Given the description of an element on the screen output the (x, y) to click on. 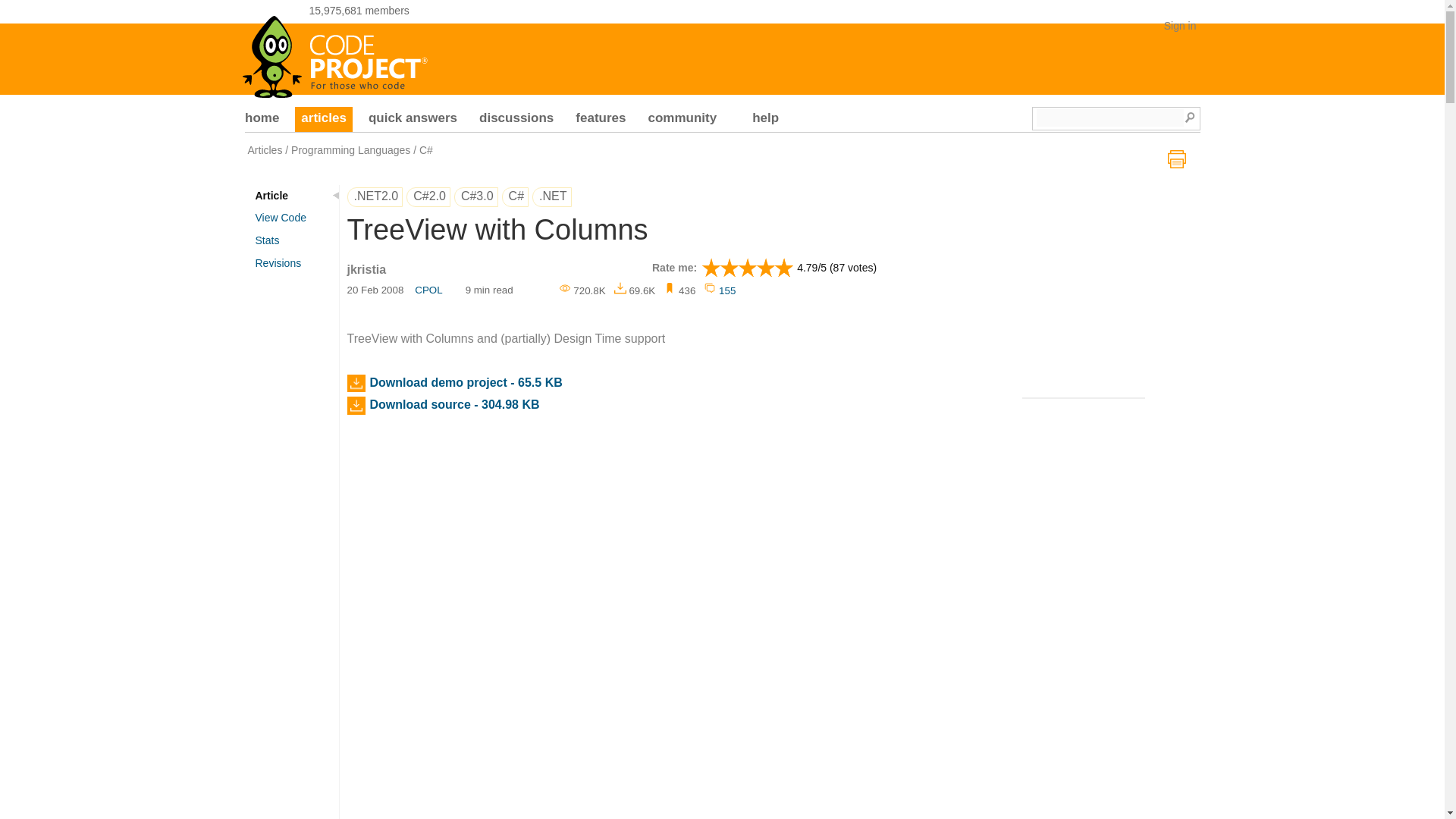
home (261, 119)
Views (582, 290)
articles (323, 119)
Sign in (1179, 25)
Date last updated (375, 290)
Comments (719, 290)
Bookmarks (679, 290)
discussions (516, 119)
CodeProject (335, 51)
Downloads (635, 290)
